Given the description of an element on the screen output the (x, y) to click on. 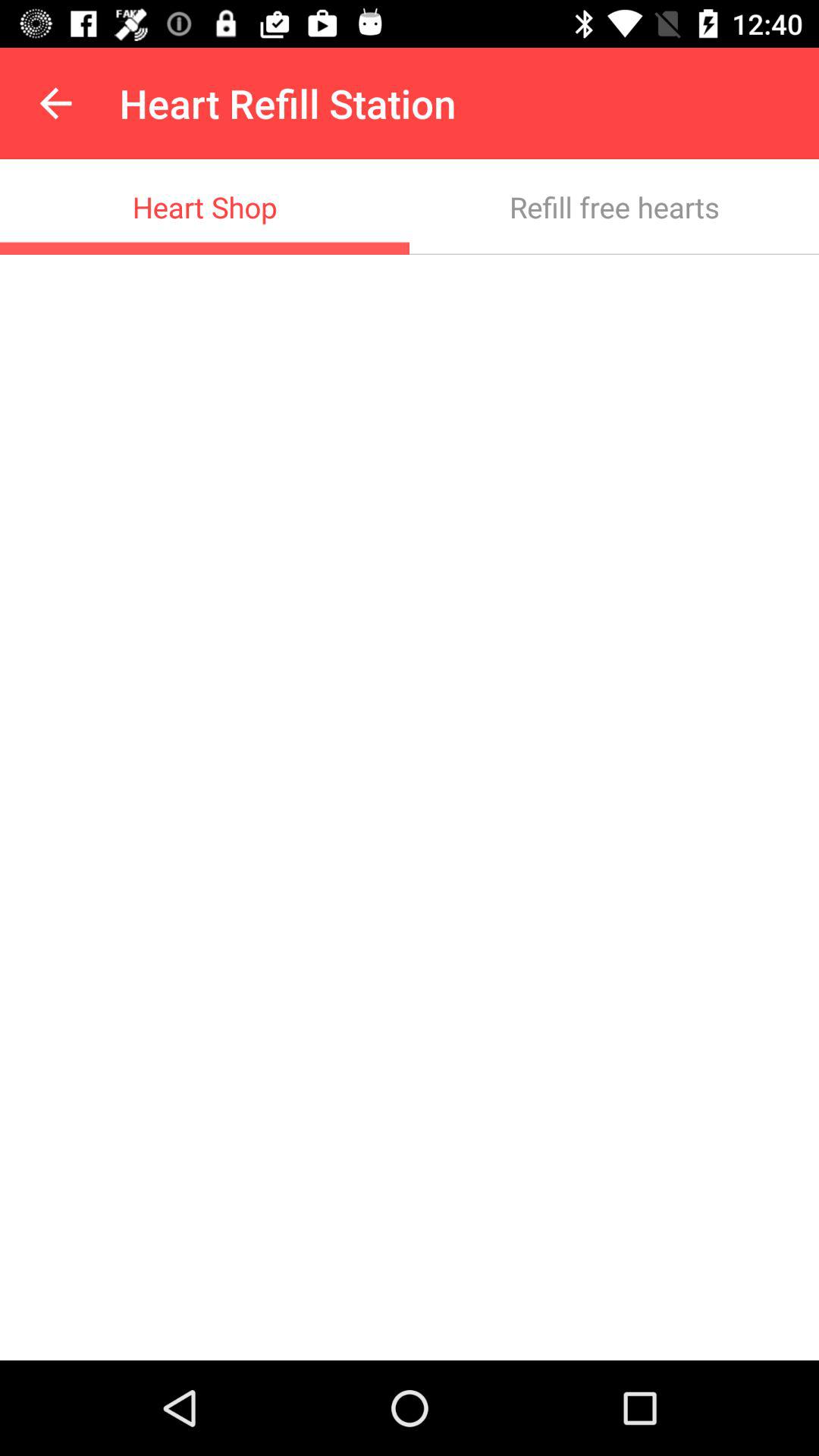
choose item below heart refill station item (614, 206)
